Given the description of an element on the screen output the (x, y) to click on. 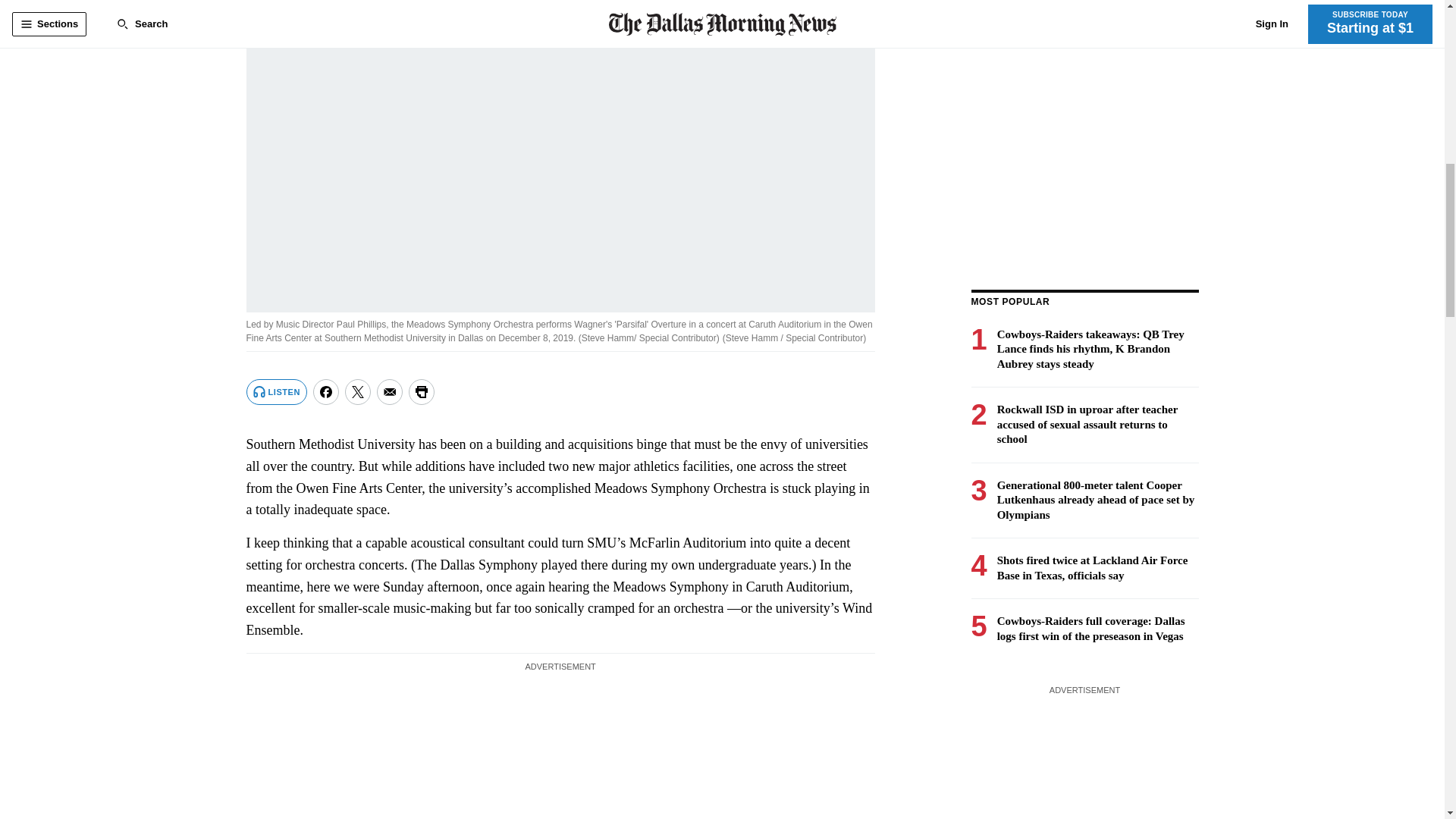
Share on Facebook (326, 391)
Share on Twitter (358, 391)
Share via Email (390, 391)
